Given the description of an element on the screen output the (x, y) to click on. 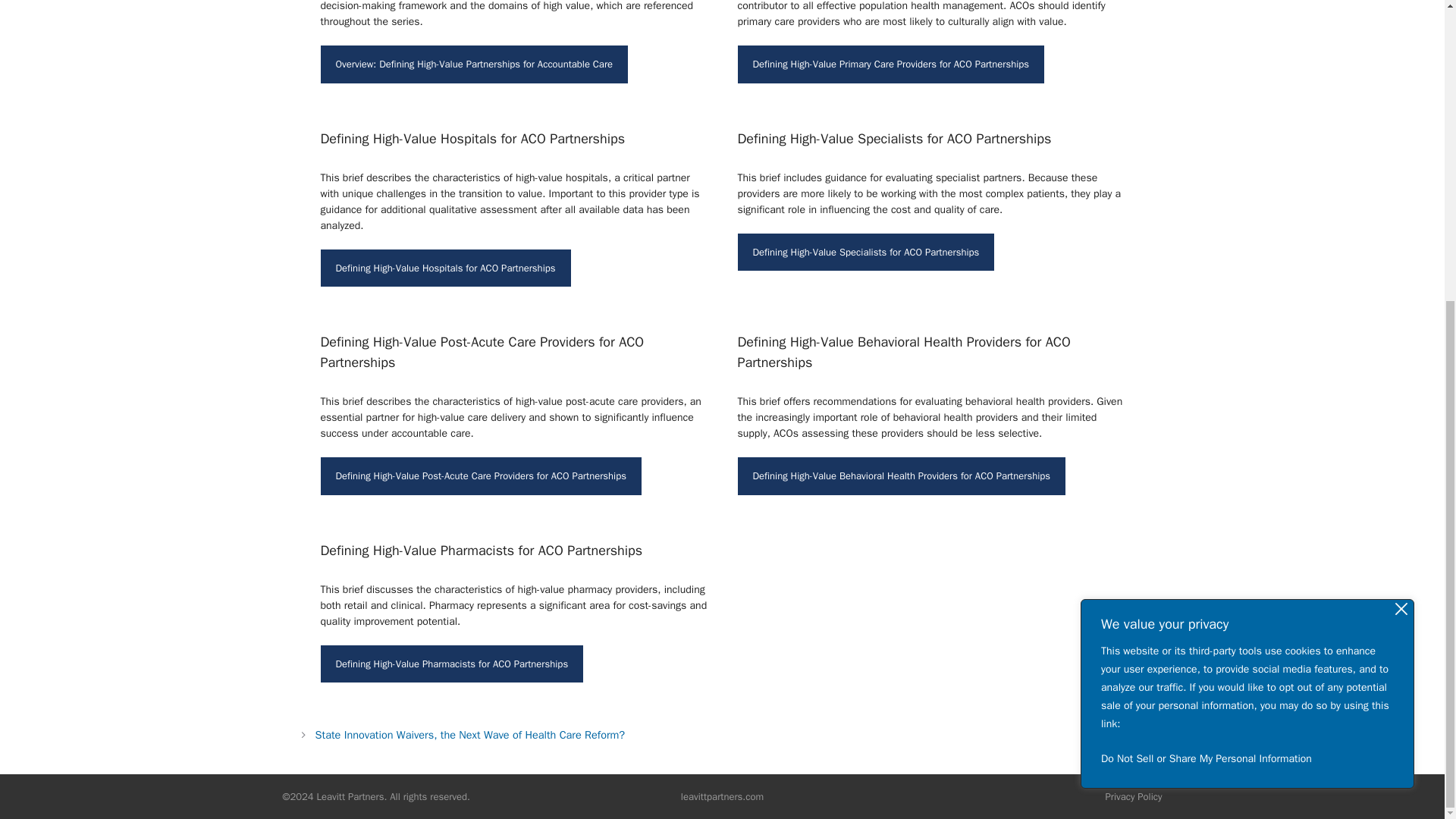
Do Not Sell or Share My Personal Information (1246, 290)
